Given the description of an element on the screen output the (x, y) to click on. 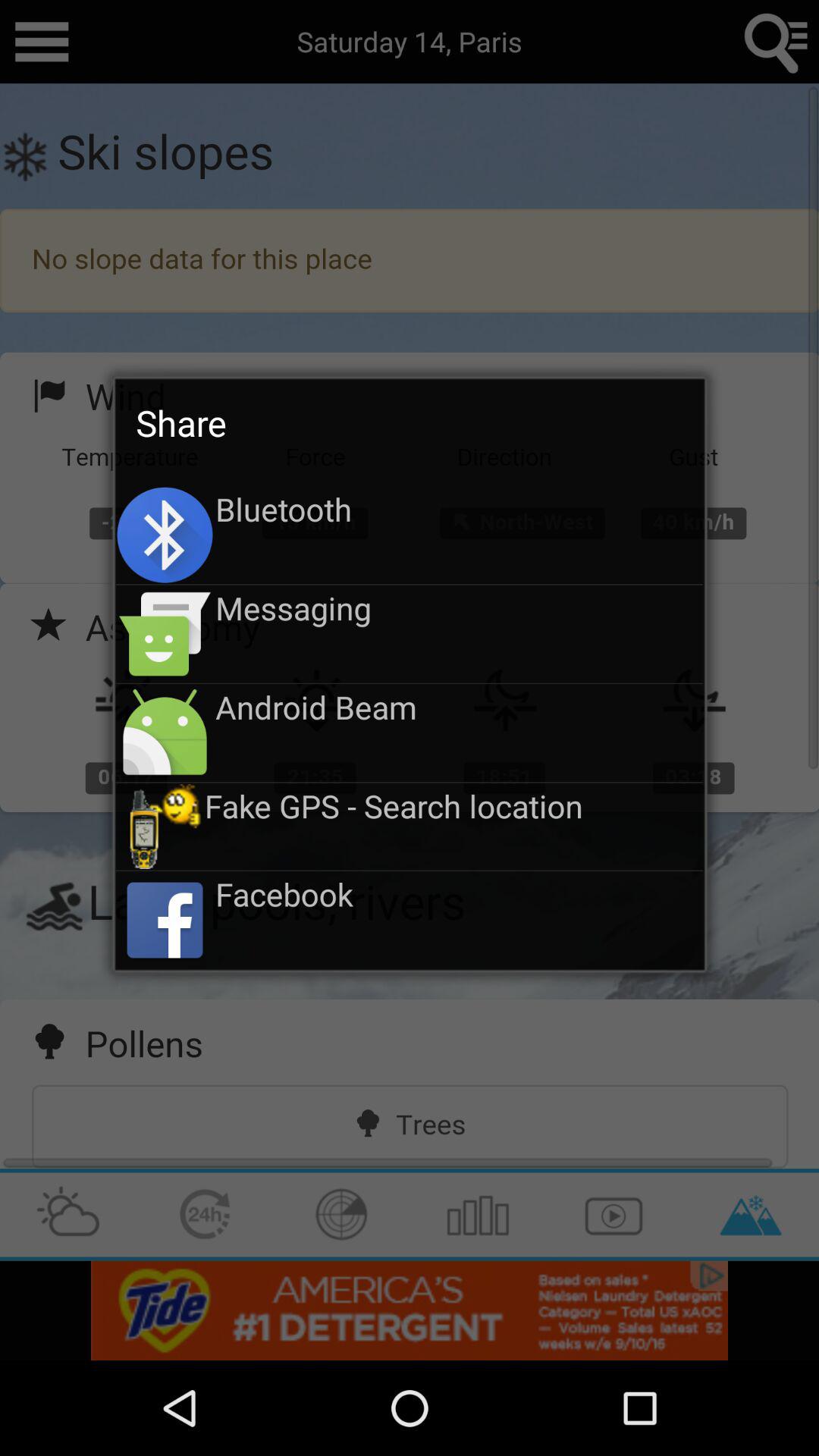
jump until the facebook app (458, 893)
